Given the description of an element on the screen output the (x, y) to click on. 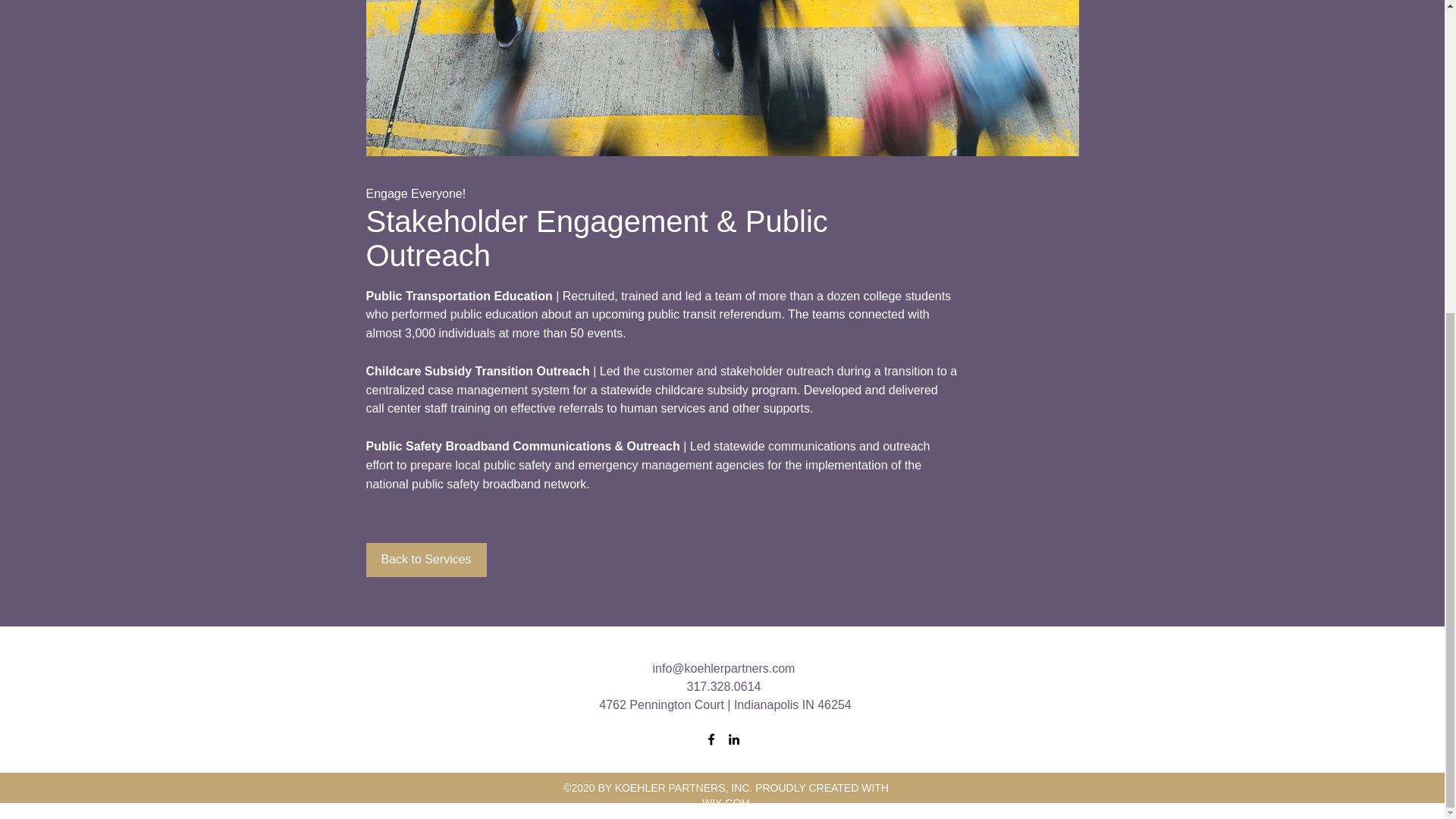
Back to Services (425, 559)
